Given the description of an element on the screen output the (x, y) to click on. 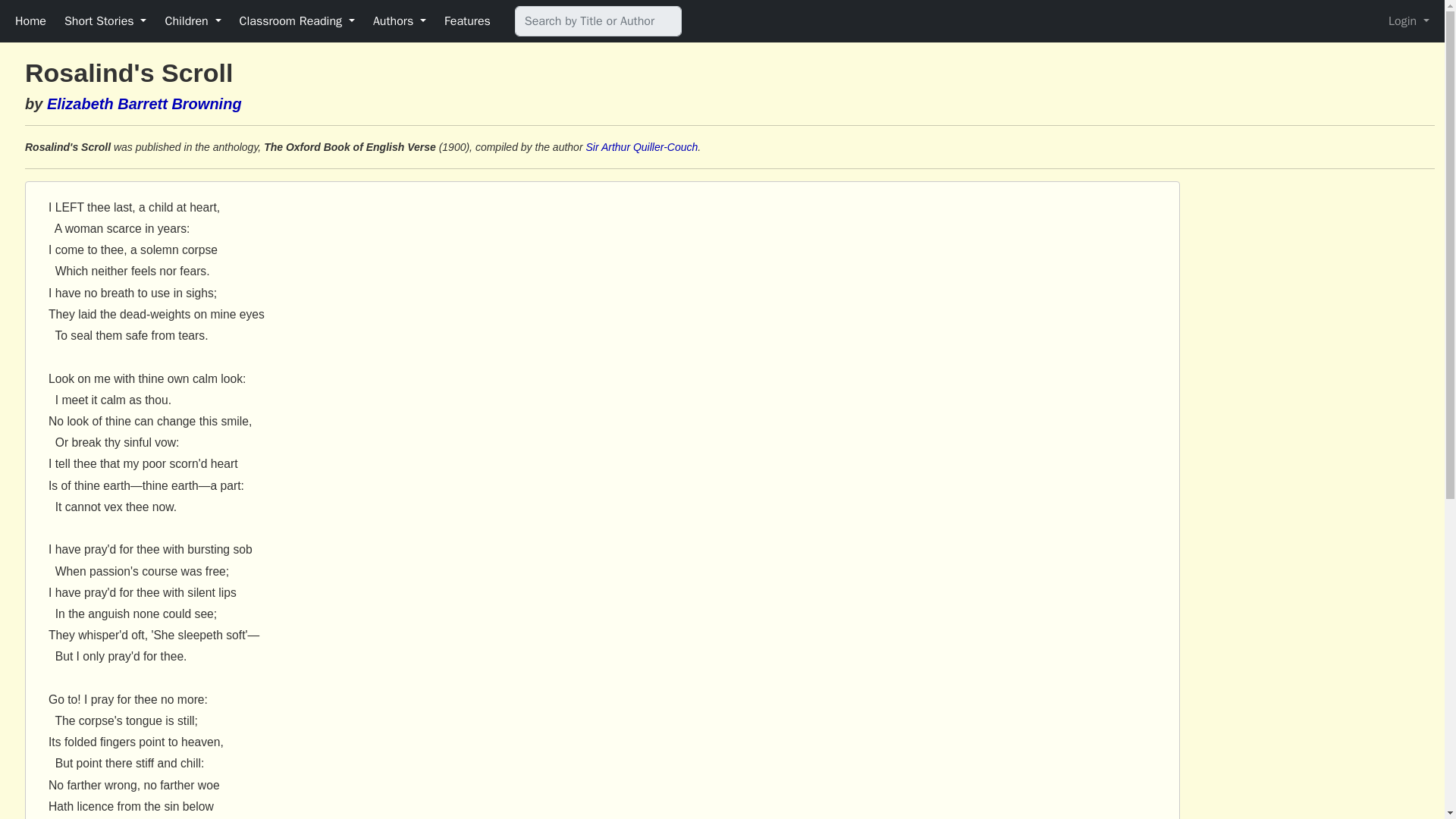
Home (30, 20)
Advertisement (1306, 296)
Short Stories (105, 20)
Children (192, 20)
